Given the description of an element on the screen output the (x, y) to click on. 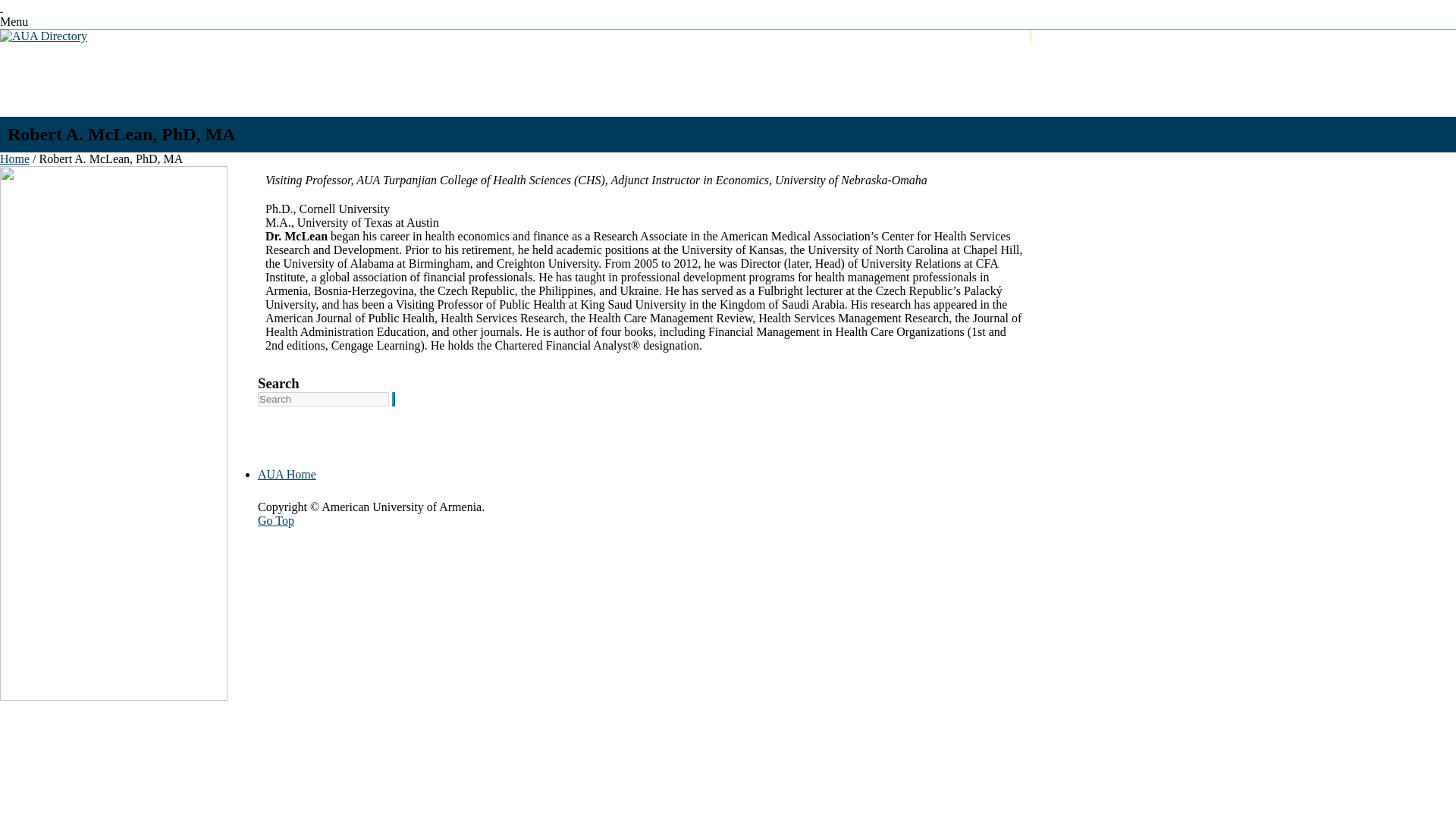
Go Top (275, 520)
AUA Directory (43, 35)
Back to top (275, 520)
AUA Home (286, 473)
Home (14, 158)
